Given the description of an element on the screen output the (x, y) to click on. 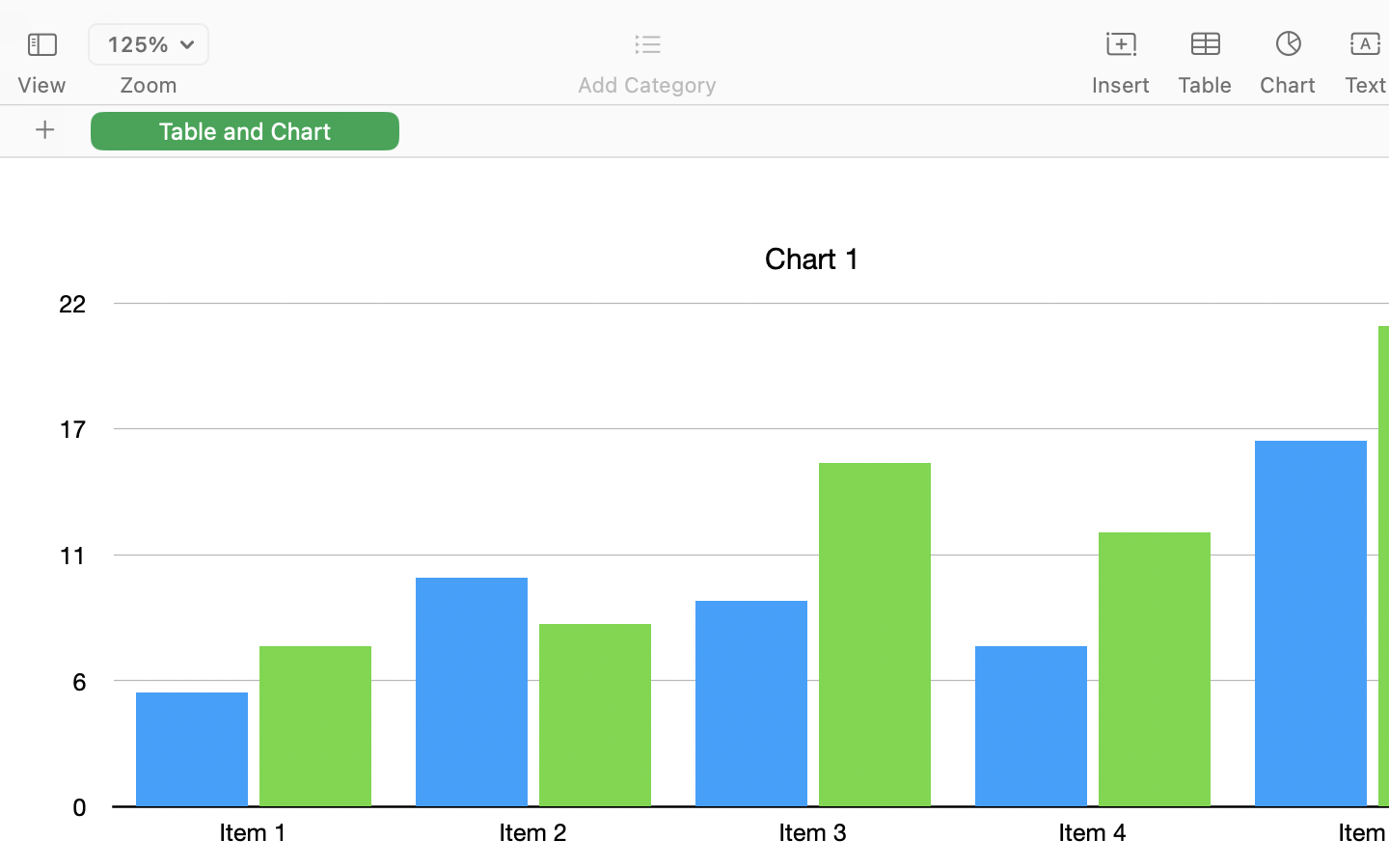
Table and Chart Element type: AXStaticText (244, 129)
